Given the description of an element on the screen output the (x, y) to click on. 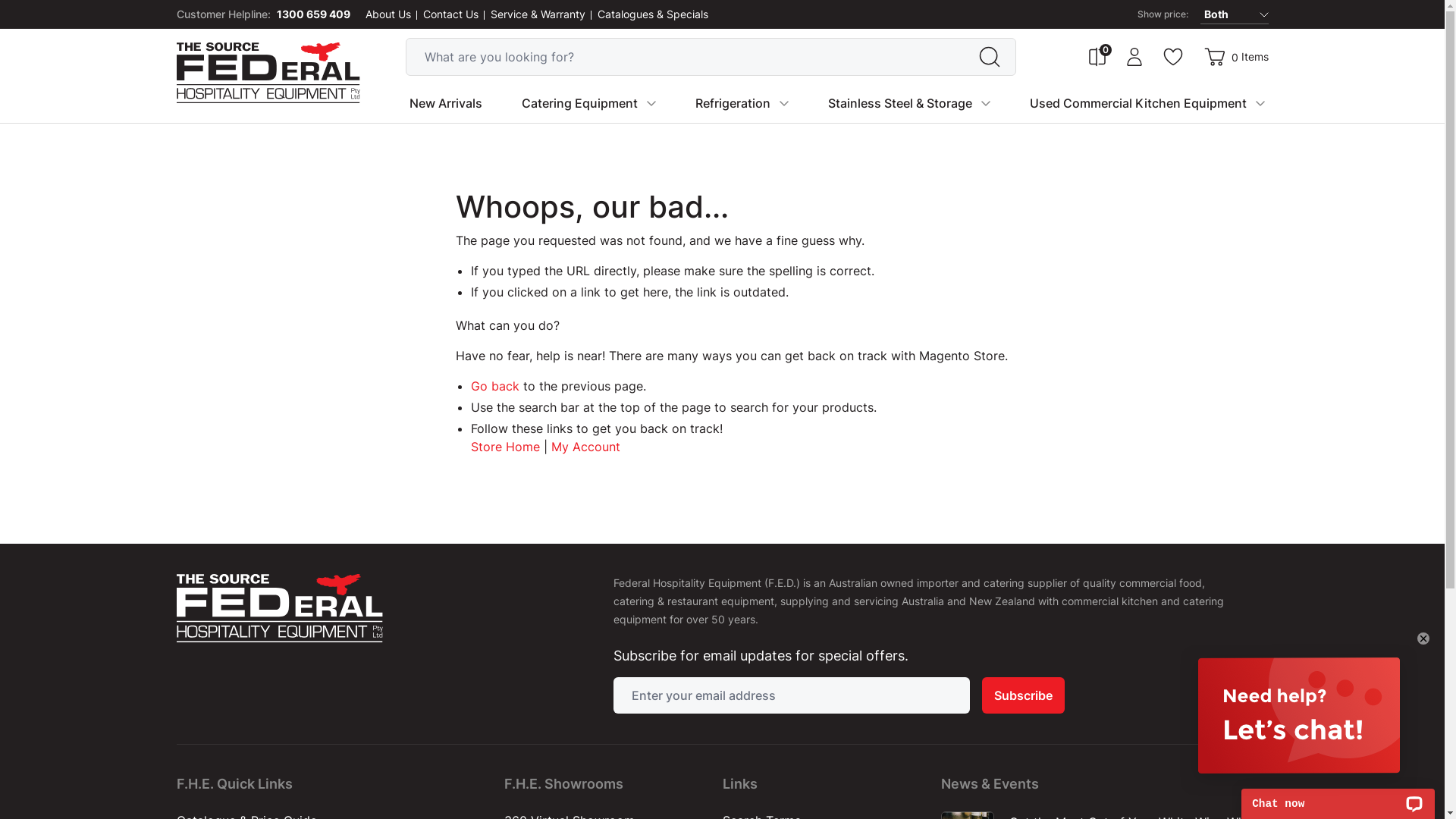
Wishlist Element type: hover (1173, 56)
Subscribe Element type: text (1022, 695)
Catalogues & Specials Element type: text (652, 14)
Search Element type: hover (989, 56)
Contact Us Element type: text (450, 14)
Federal Hospitality Equipment Element type: hover (267, 72)
Used Commercial Kitchen Equipment Element type: text (1137, 103)
Refrigeration Element type: text (731, 103)
1300 659 409 Element type: text (312, 13)
About Us Element type: text (388, 14)
Catering Equipment Element type: text (579, 103)
Go back Element type: text (494, 385)
My Account Element type: hover (1134, 56)
Store Home Element type: text (504, 446)
Compare Products
0 Element type: text (1096, 56)
Cart
0
Items Element type: text (1236, 56)
New Arrivals Element type: text (445, 103)
Service & Warranty Element type: text (536, 14)
Stainless Steel & Storage Element type: text (900, 103)
My Account Element type: text (584, 446)
